Given the description of an element on the screen output the (x, y) to click on. 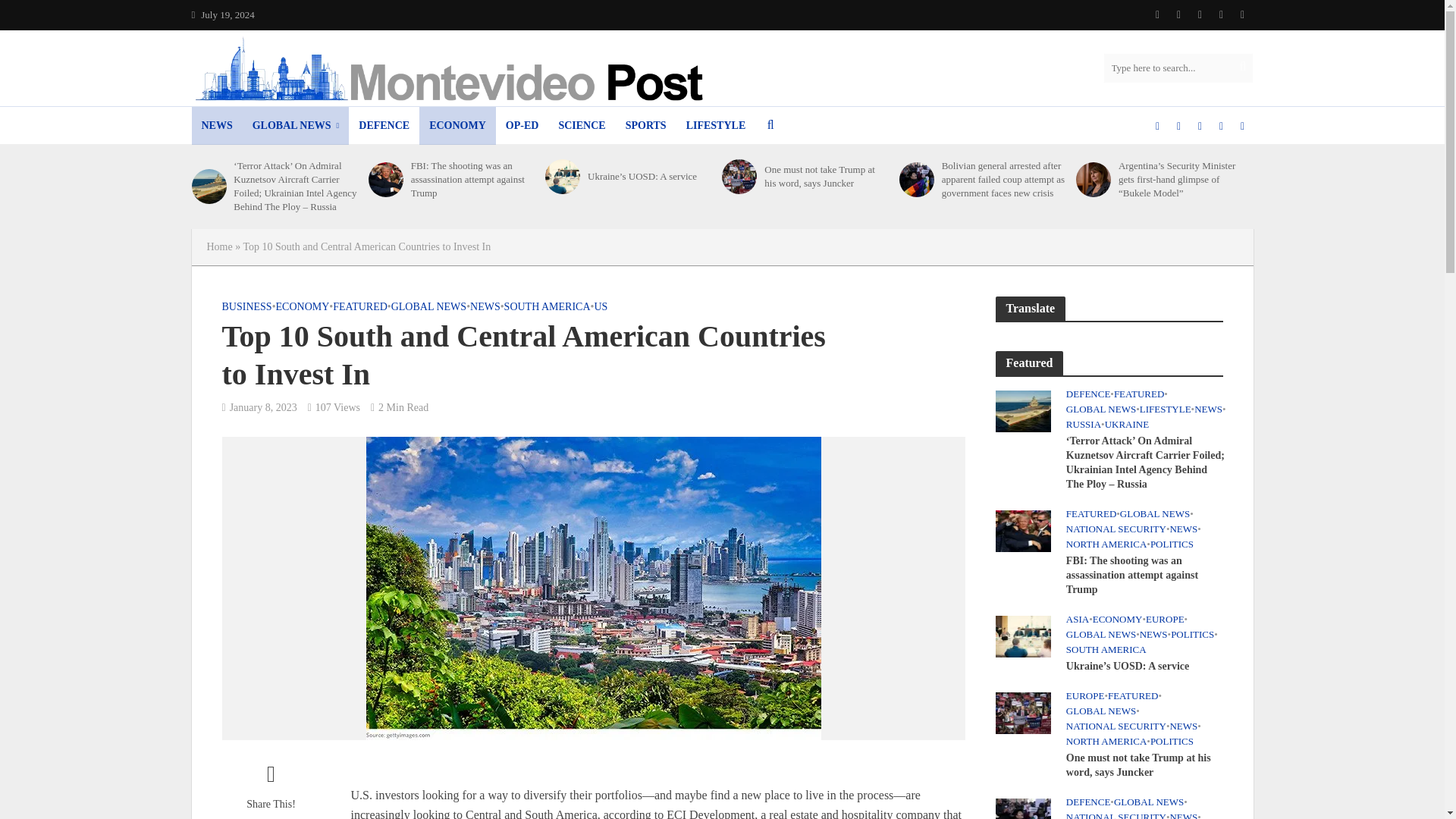
One must not take Trump at his word, says Juncker (1021, 711)
FBI: The shooting was an assassination attempt against Trump (385, 179)
NEWS (215, 125)
GLOBAL NEWS (296, 125)
FBI: The shooting was an assassination attempt against Trump (1021, 530)
One must not take Trump at his word, says Juncker (739, 176)
